Given the description of an element on the screen output the (x, y) to click on. 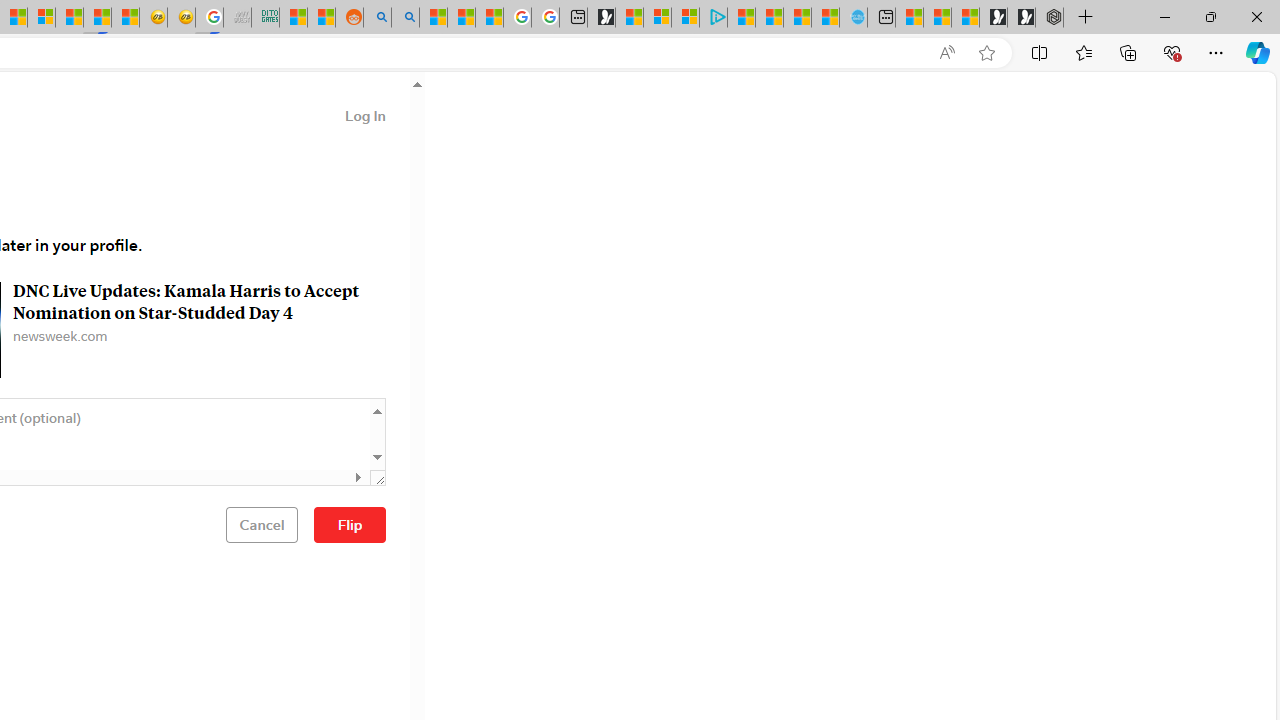
Home | Sky Blue Bikes - Sky Blue Bikes (852, 17)
DITOGAMES AG Imprint (265, 17)
Navy Quest (237, 17)
MSNBC - MSN (293, 17)
